Given the description of an element on the screen output the (x, y) to click on. 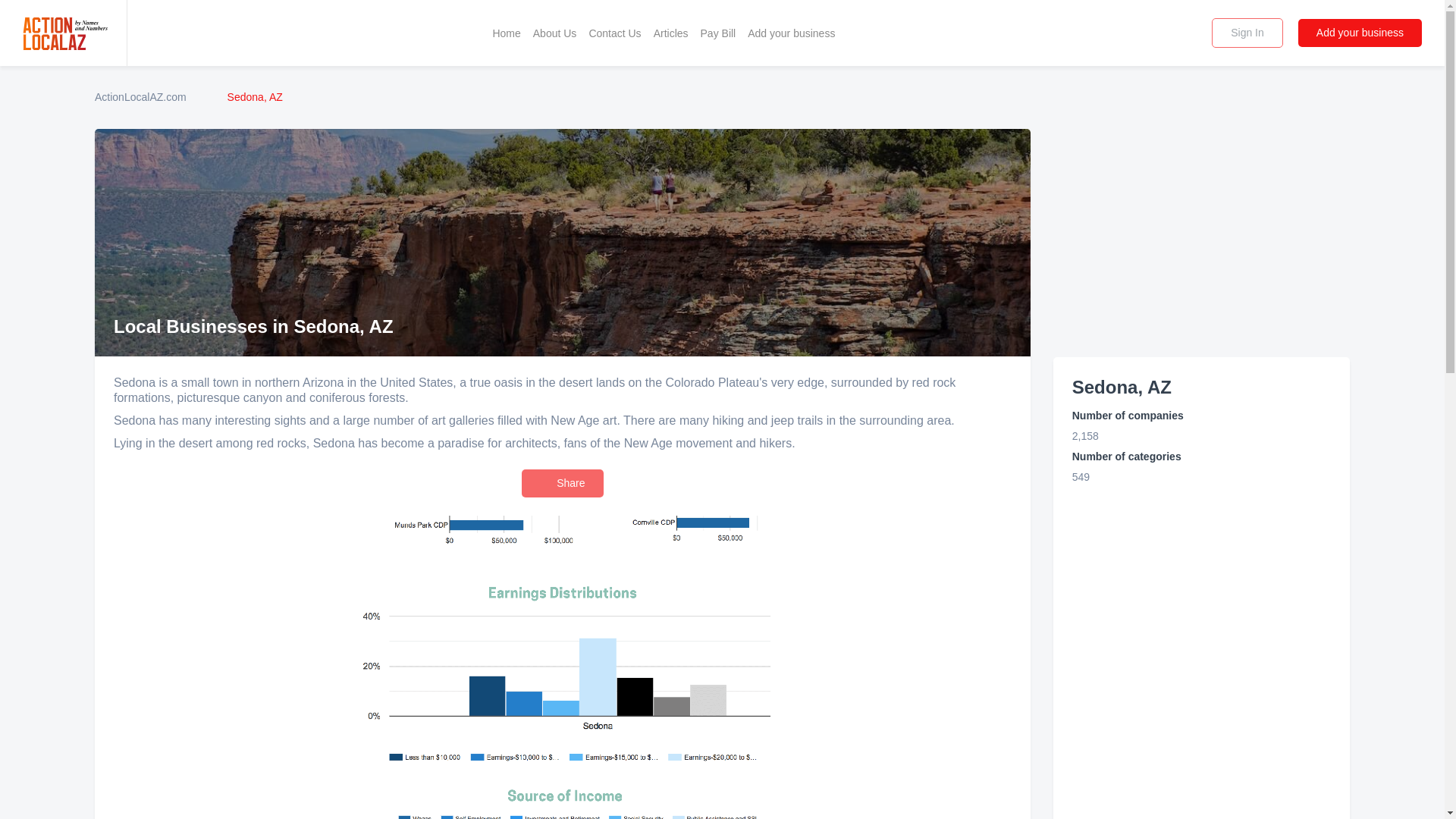
Add your business (1360, 32)
Articles (670, 32)
ActionLocalAZ.com (140, 96)
Add your business (791, 32)
Share (561, 483)
Pay Bill (718, 32)
Local Businesses in Sedona, AZ (562, 741)
Contact Us (614, 32)
Home (505, 32)
About Us (555, 32)
